Given the description of an element on the screen output the (x, y) to click on. 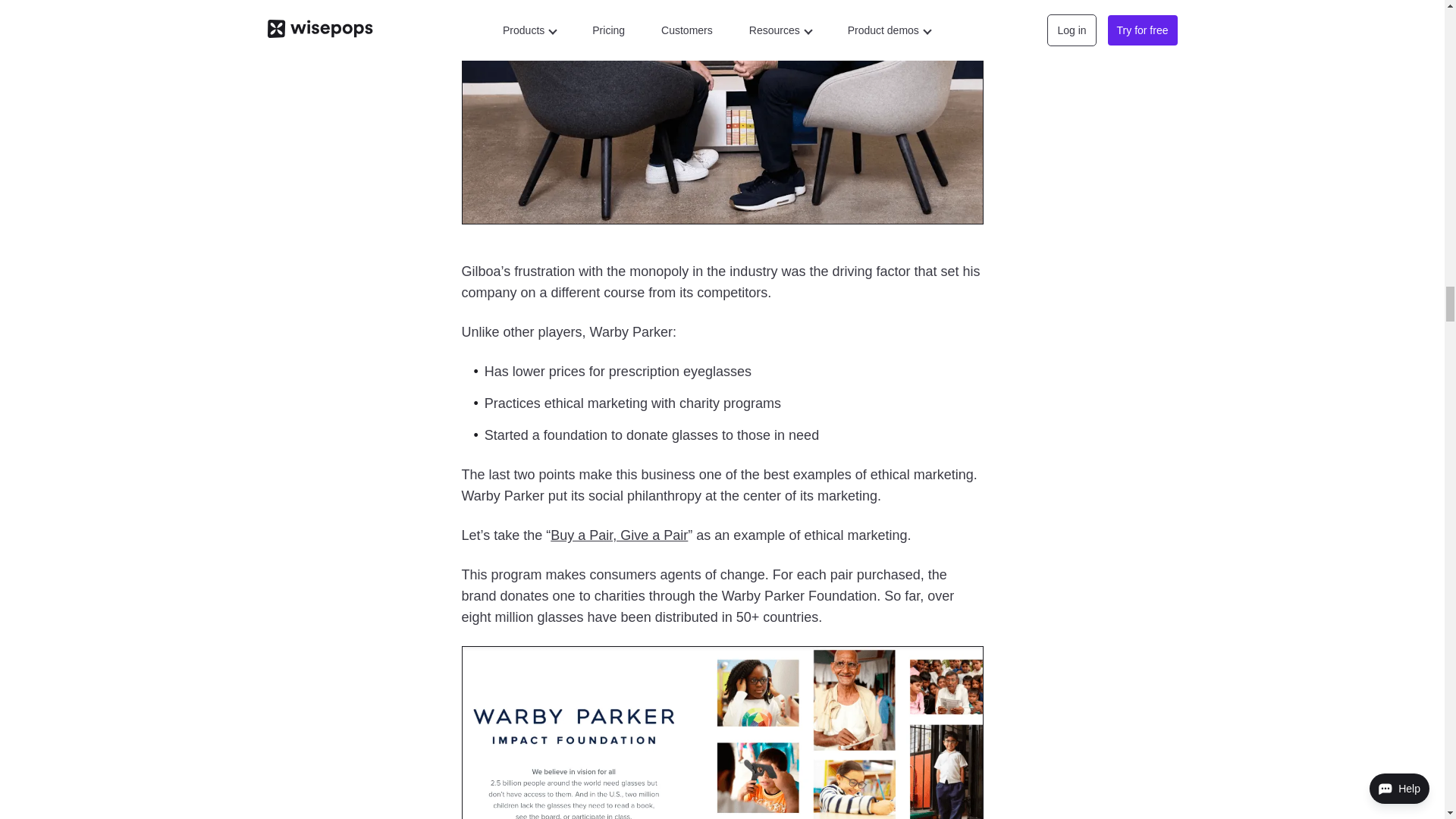
Buy a Pair, Give a Pair (618, 534)
